Given the description of an element on the screen output the (x, y) to click on. 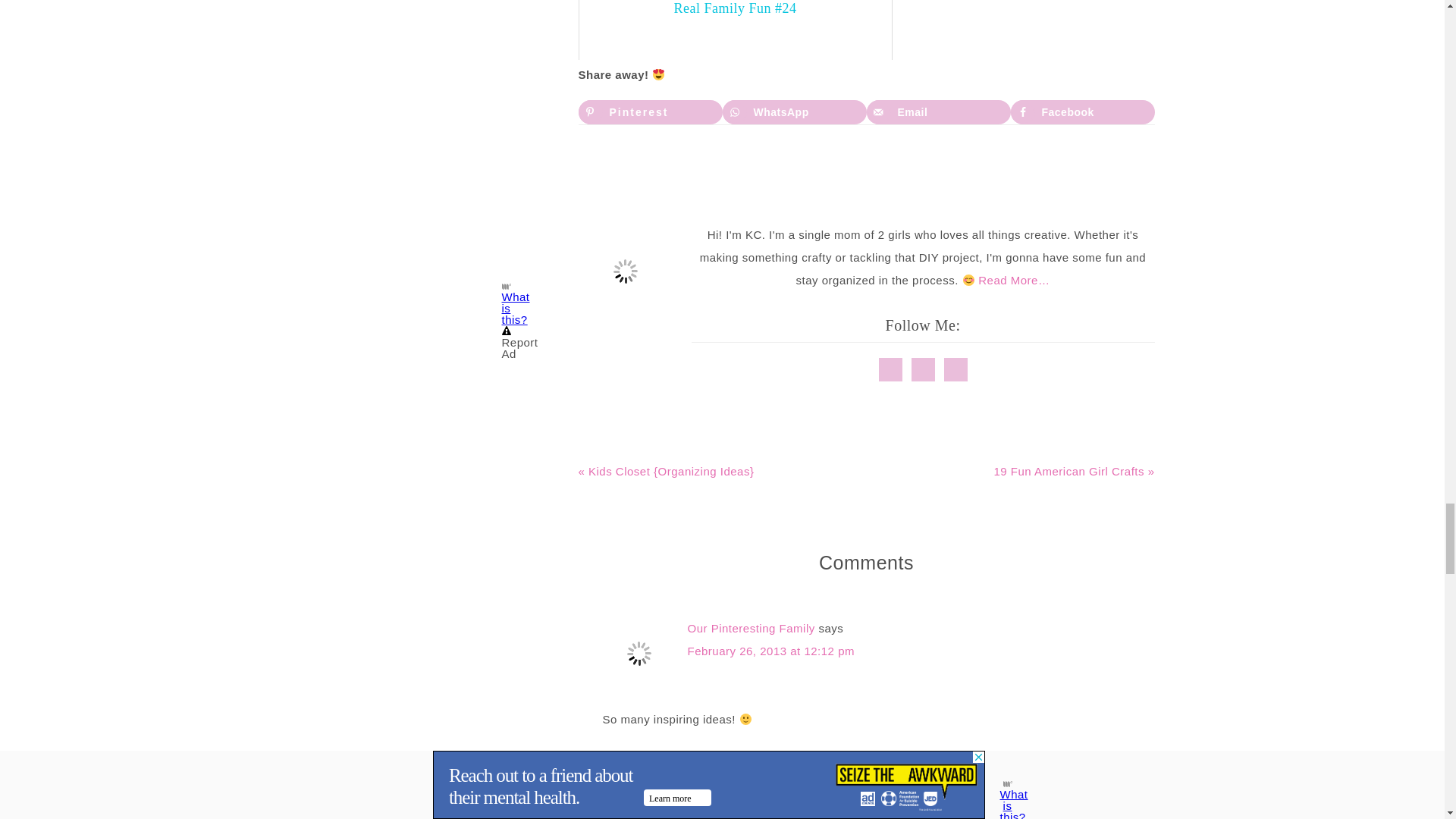
Share on WhatsApp (794, 111)
Send over email (938, 111)
Save to Pinterest (650, 111)
